Given the description of an element on the screen output the (x, y) to click on. 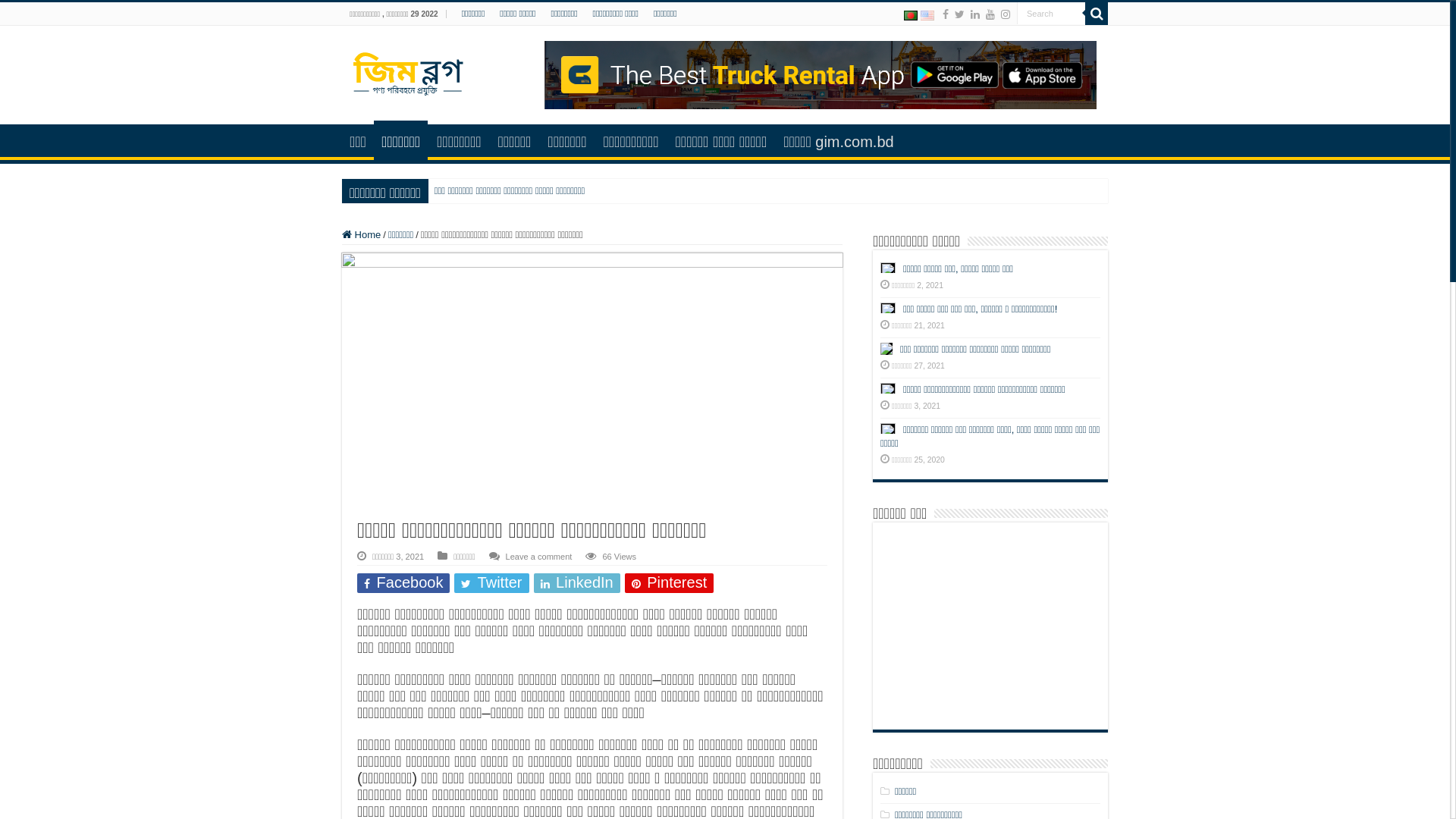
LinkedIn Element type: hover (975, 14)
Search Element type: text (1096, 13)
Facebook Element type: text (403, 583)
Search Element type: hover (1050, 13)
Pinterest Element type: text (669, 583)
Facebook Element type: hover (945, 14)
instagram Element type: hover (1005, 14)
LinkedIn Element type: text (576, 583)
Home Element type: text (361, 234)
Twitter Element type: text (491, 583)
Leave a comment Element type: text (538, 556)
Youtube Element type: hover (990, 14)
Twitter Element type: hover (959, 14)
